Given the description of an element on the screen output the (x, y) to click on. 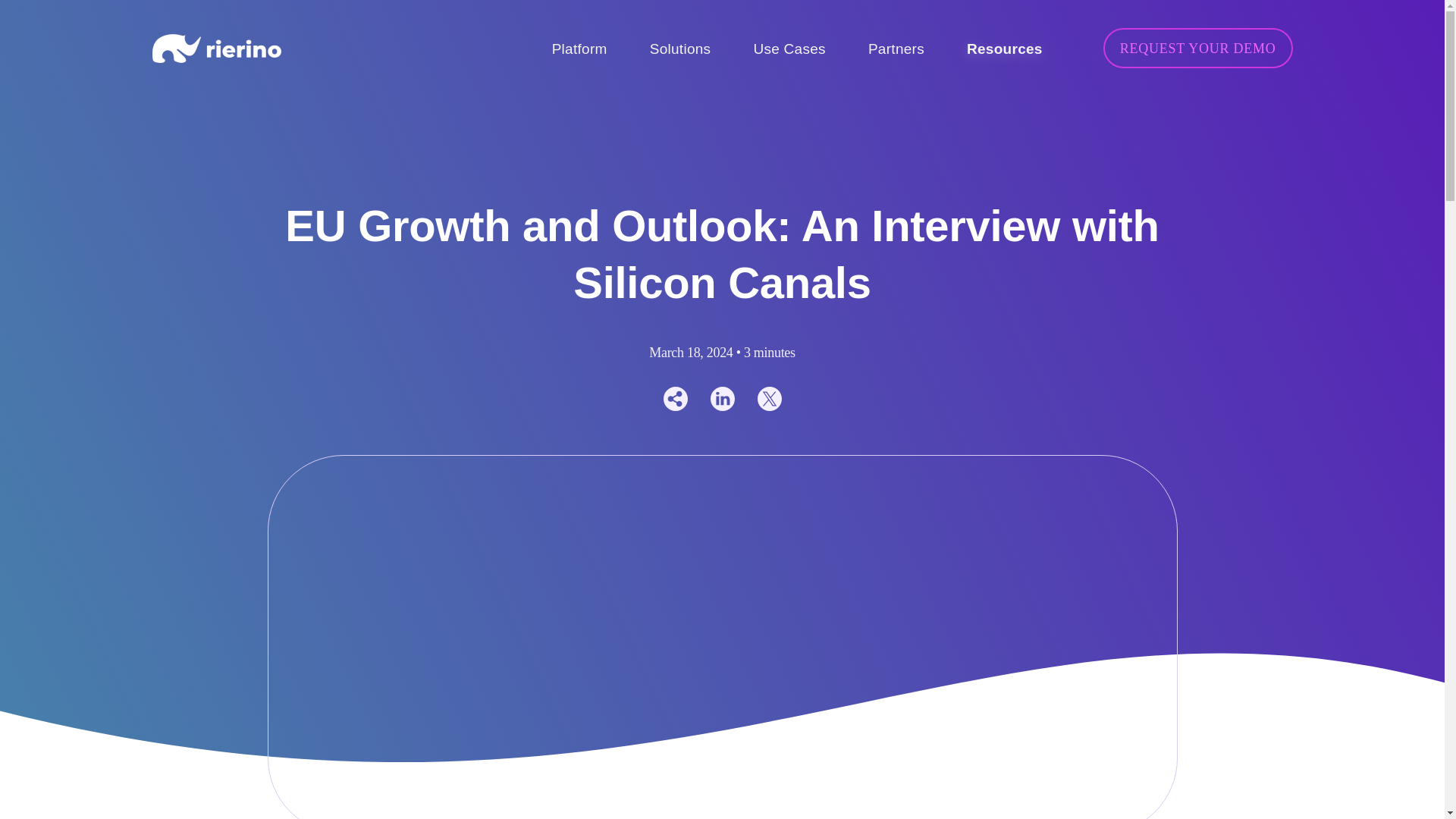
Resources (1004, 48)
Platform (579, 48)
Solutions (680, 48)
Partners (895, 48)
REQUEST YOUR DEMO (1197, 47)
Use Cases (788, 48)
